Given the description of an element on the screen output the (x, y) to click on. 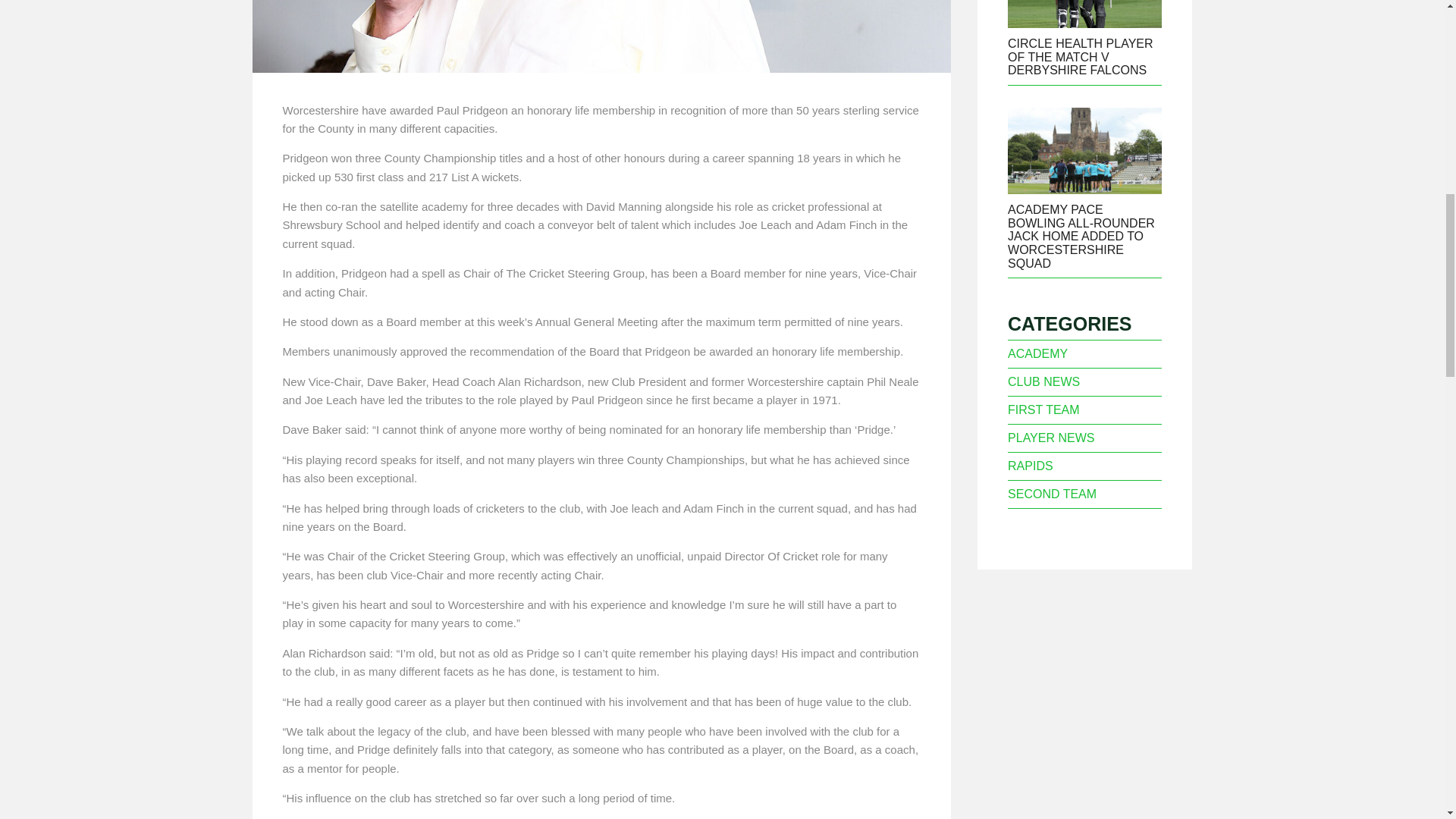
FIRST TEAM (1043, 409)
PLAYER NEWS (1050, 437)
RAPIDS (1029, 465)
CLUB NEWS (1043, 381)
SECOND TEAM (1051, 493)
ACADEMY (1037, 353)
CIRCLE HEALTH PLAYER OF THE MATCH V DERBYSHIRE FALCONS (1080, 56)
